Given the description of an element on the screen output the (x, y) to click on. 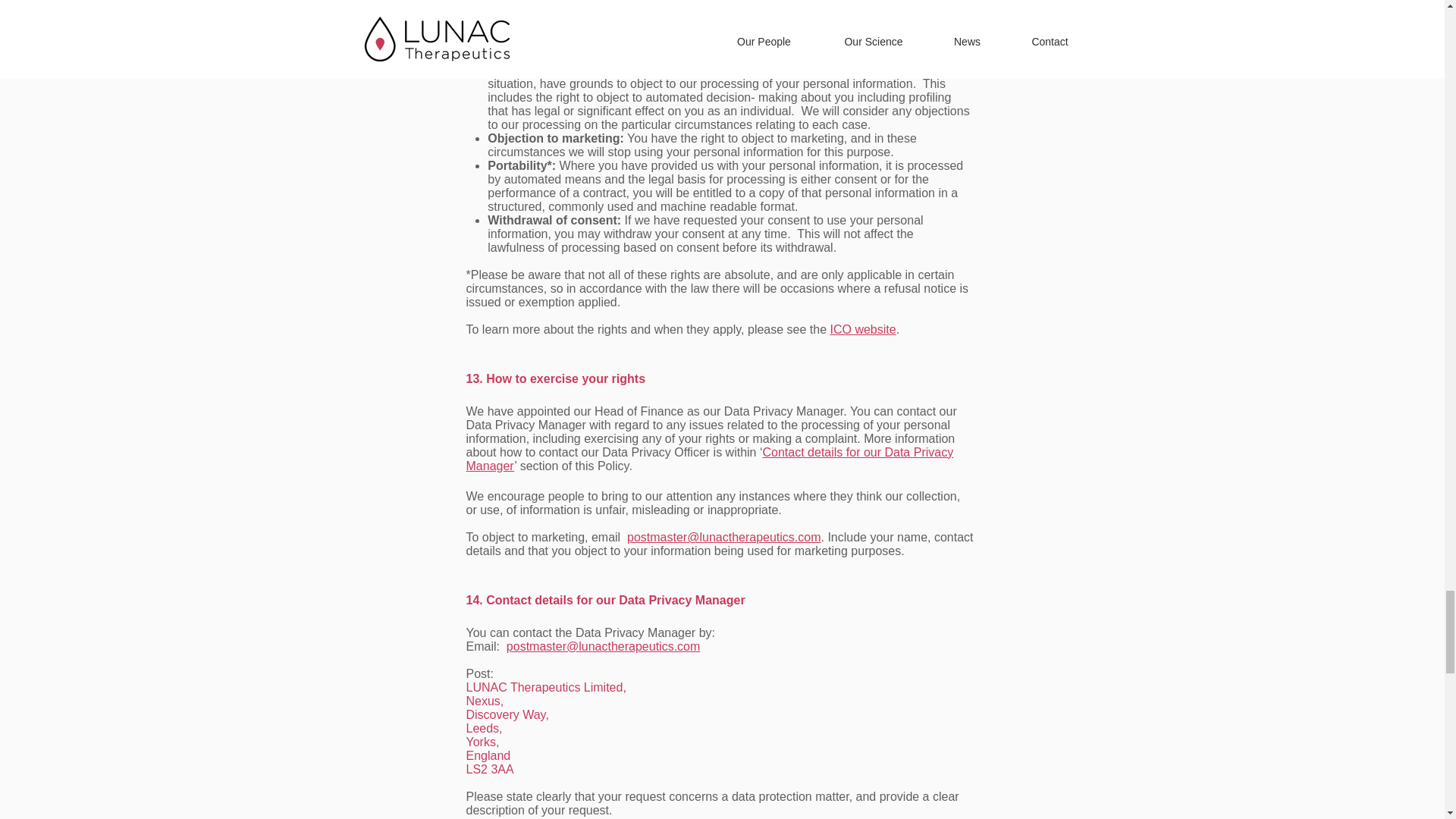
Contact details for our Data Privacy Manager (709, 458)
ICO website (862, 328)
